Given the description of an element on the screen output the (x, y) to click on. 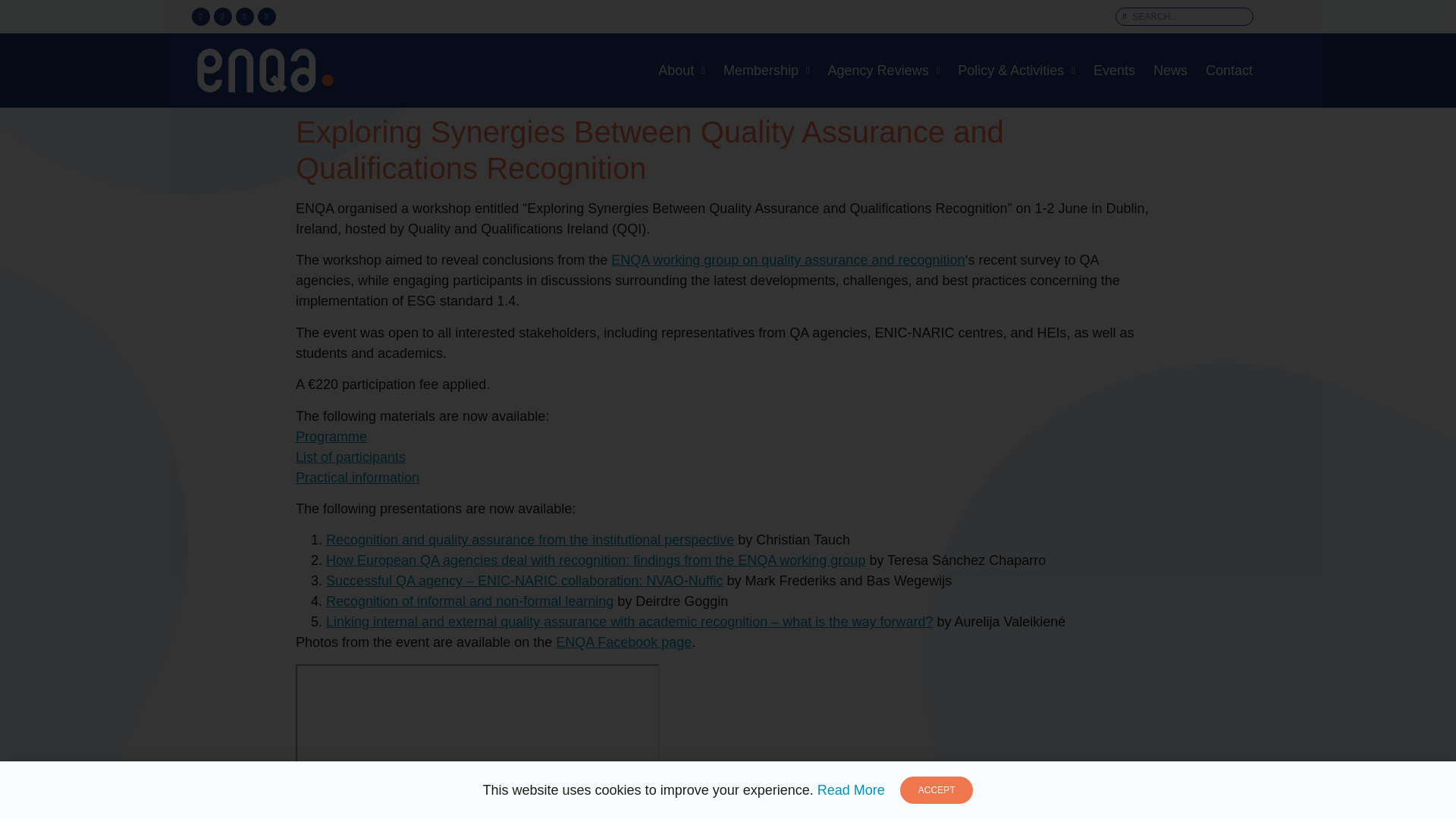
News (1170, 70)
Contact (1229, 70)
Events (1114, 70)
About (681, 70)
Agency Reviews (884, 70)
Membership (766, 70)
